Given the description of an element on the screen output the (x, y) to click on. 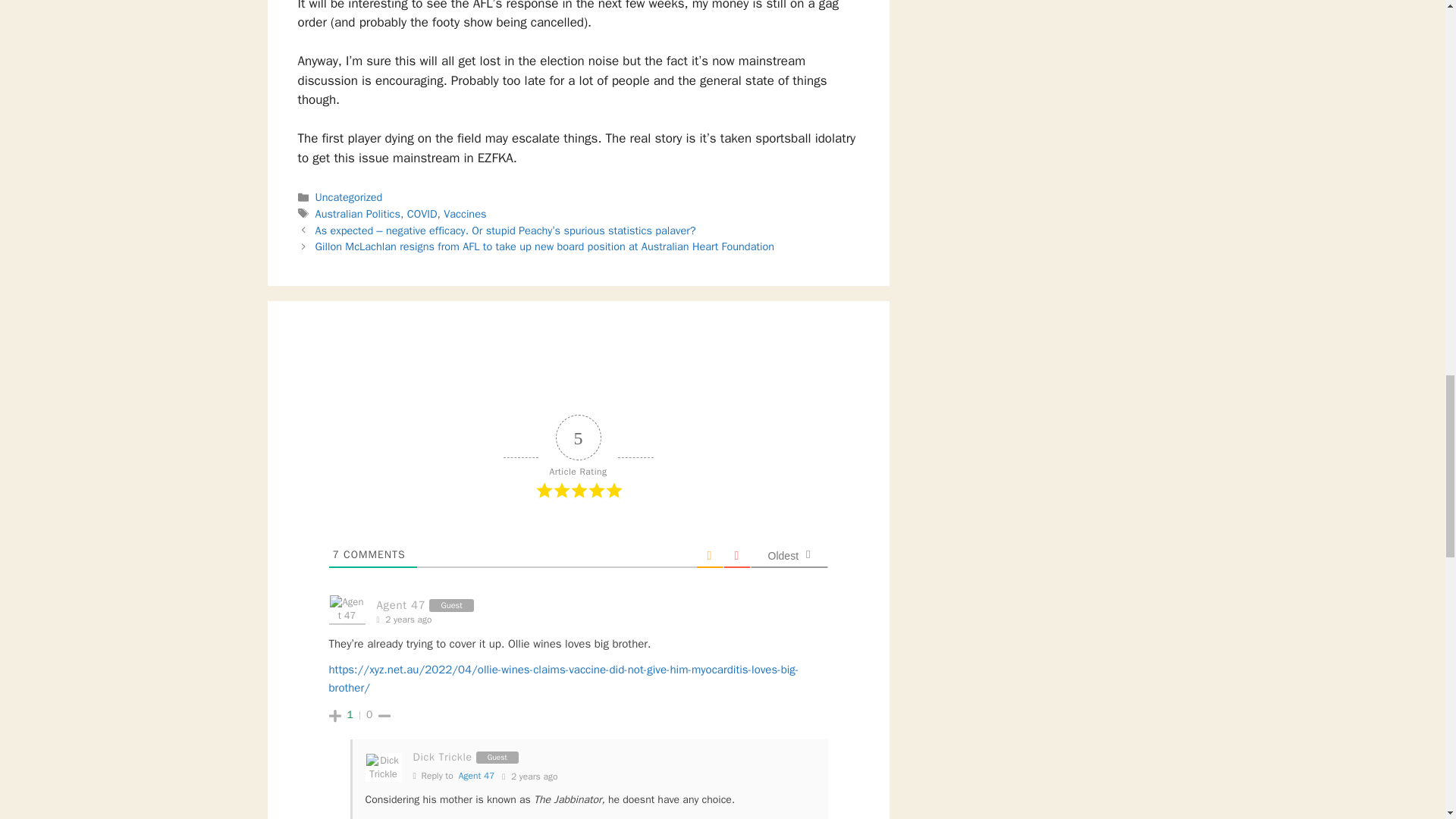
April 12, 2022 12:03 pm (529, 776)
COVID (422, 213)
7 (335, 554)
Vaccines (465, 213)
0 (368, 714)
April 12, 2022 10:44 am (407, 619)
Australian Politics (357, 213)
Agent 47 (476, 775)
Uncategorized (348, 196)
1 (349, 714)
